Given the description of an element on the screen output the (x, y) to click on. 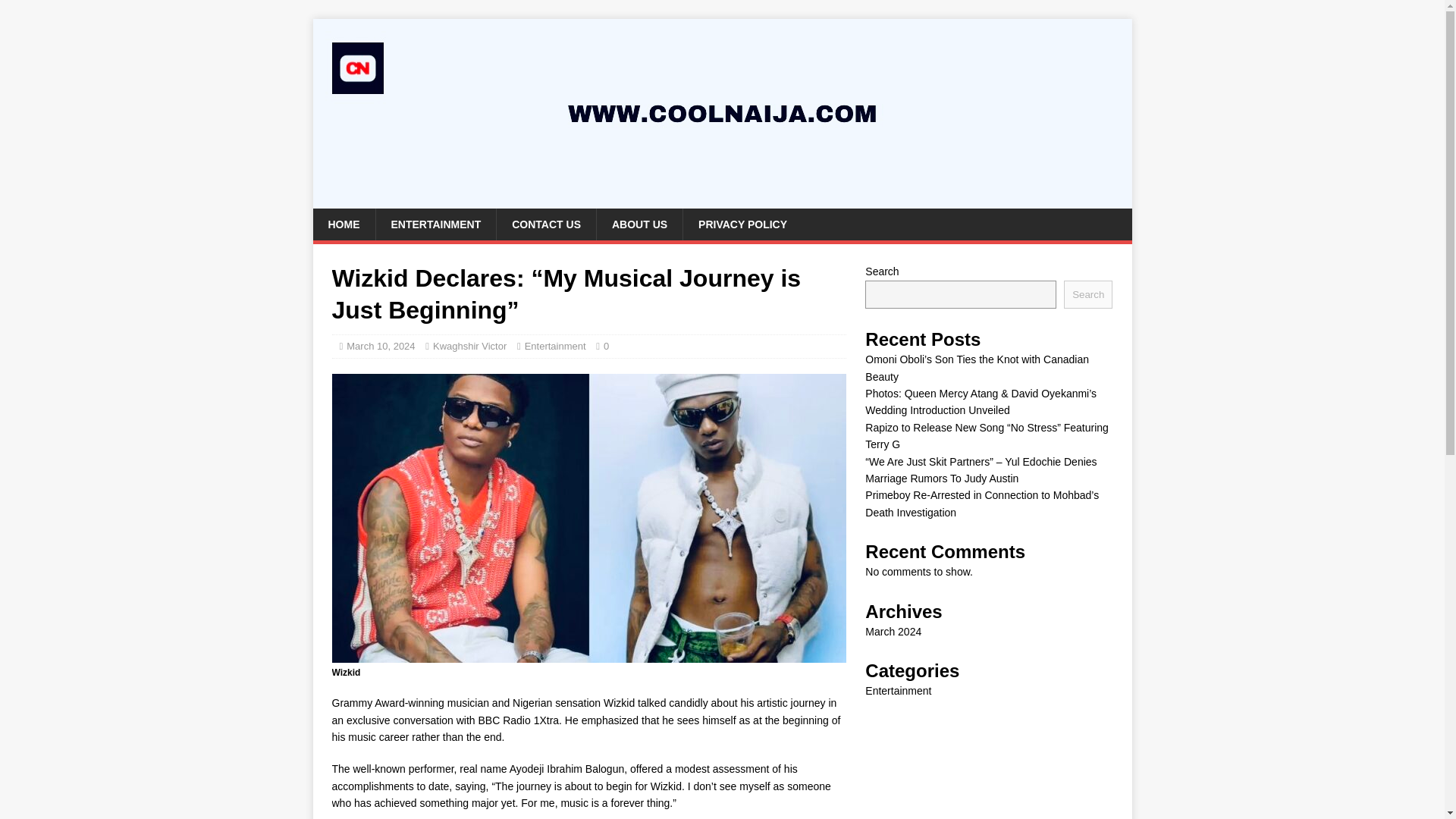
Kwaghshir Victor (469, 346)
CoolNaija (722, 200)
HOME (343, 224)
CONTACT US (545, 224)
March 10, 2024 (380, 346)
Entertainment (897, 690)
Entertainment (555, 346)
ENTERTAINMENT (435, 224)
ABOUT US (638, 224)
PRIVACY POLICY (742, 224)
March 2024 (892, 631)
Search (1088, 294)
